Given the description of an element on the screen output the (x, y) to click on. 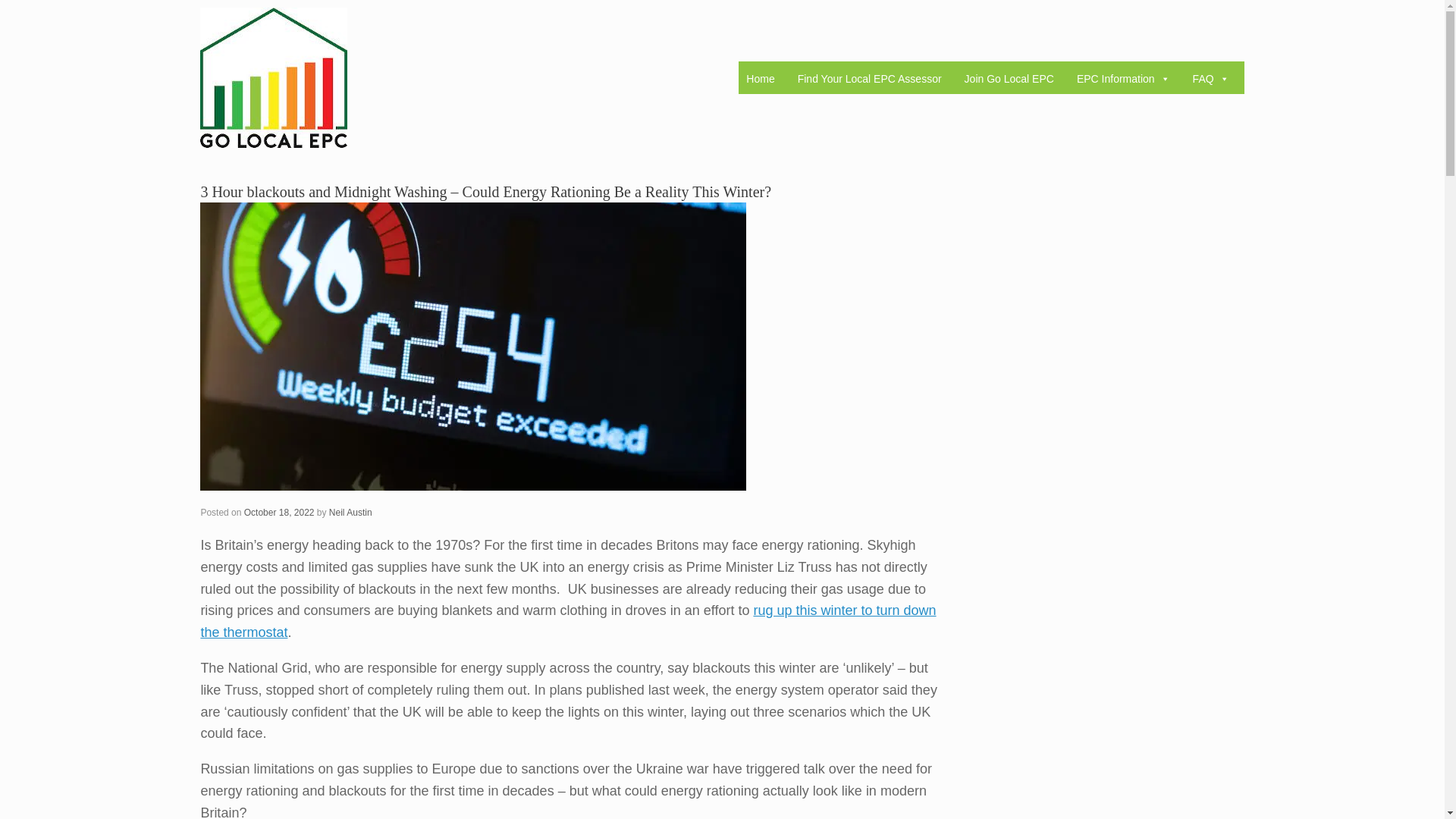
Neil Austin (350, 511)
rug up this winter to turn down the thermostat (568, 620)
Find Your Local EPC Assessor (869, 78)
Go Local EPC (273, 77)
October 18, 2022 (279, 511)
Join Go Local EPC (1008, 78)
Home (759, 78)
View all posts by Neil Austin (350, 511)
FAQ (1210, 78)
9:25 am (279, 511)
EPC Information (1122, 78)
